Given the description of an element on the screen output the (x, y) to click on. 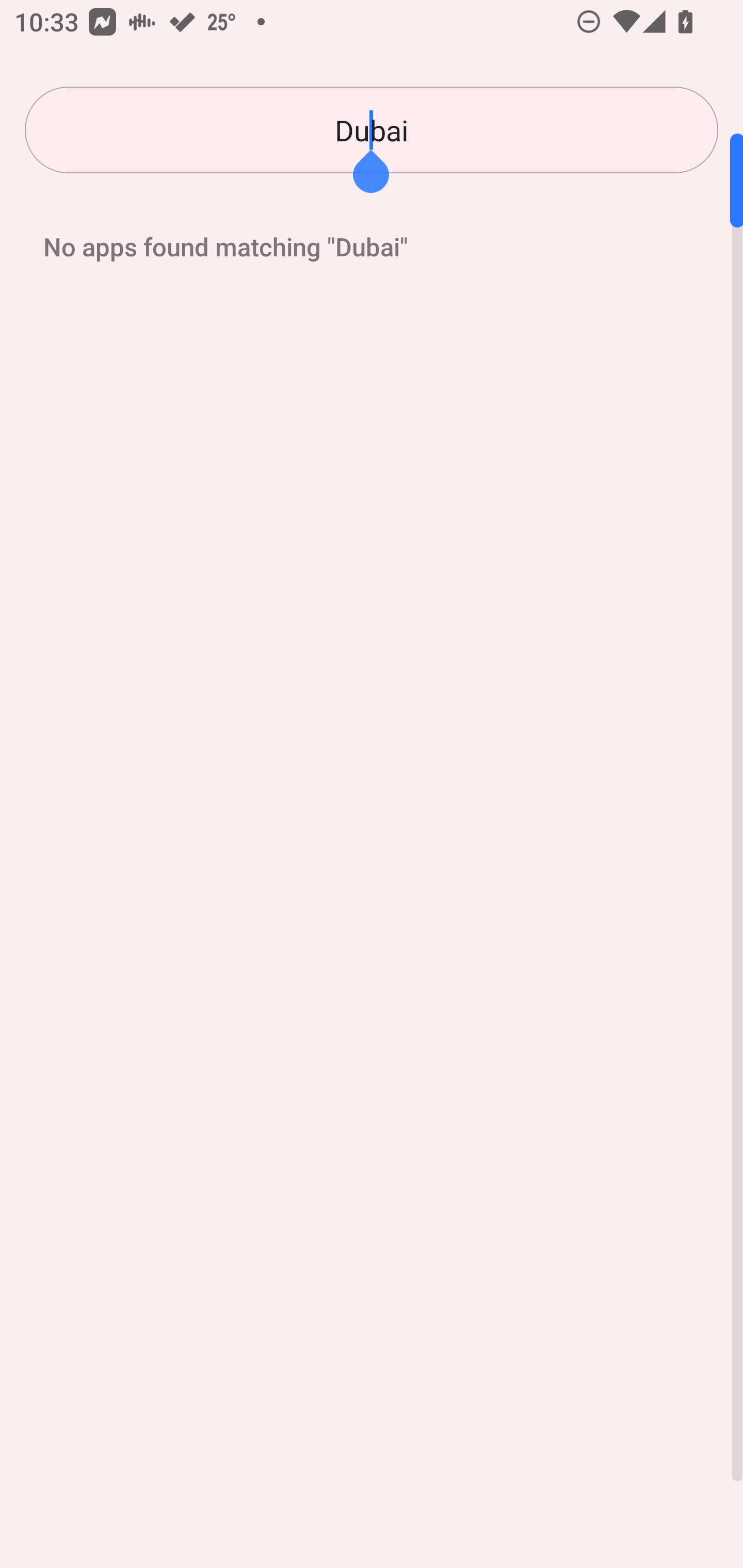
Dubai (371, 130)
